Given the description of an element on the screen output the (x, y) to click on. 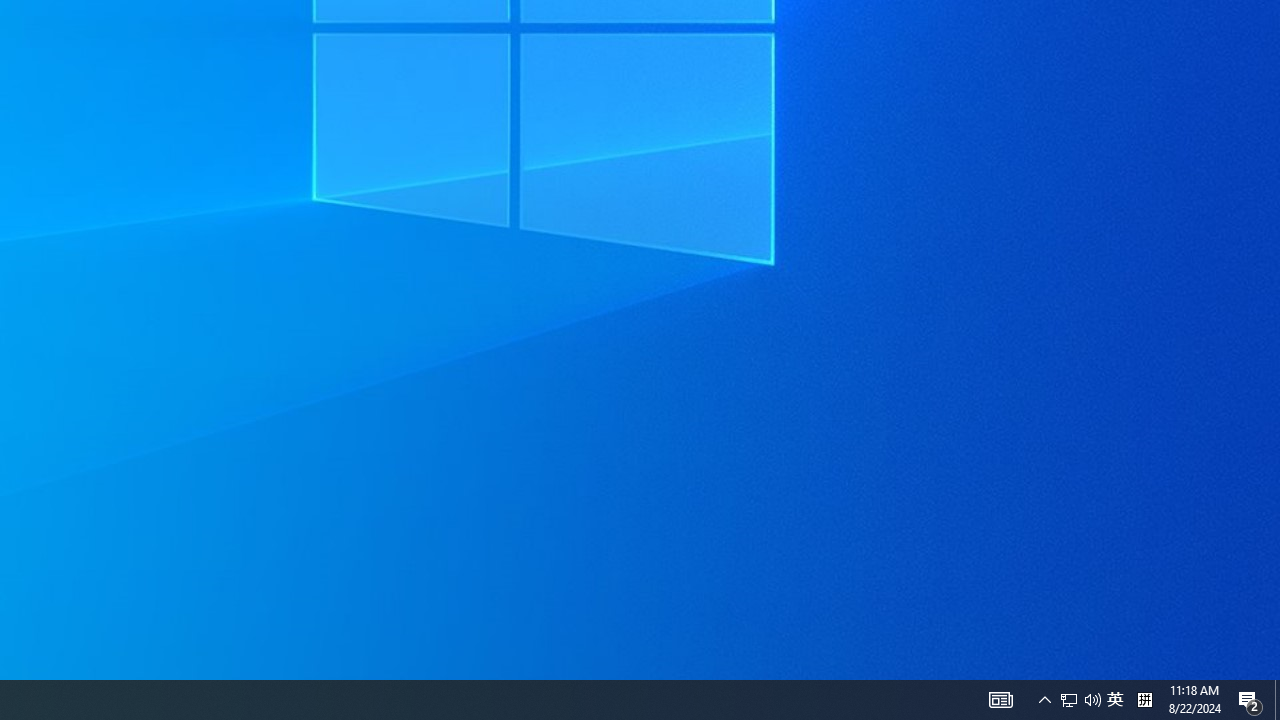
Tray Input Indicator - Chinese (Simplified, China) (1144, 699)
Action Center, 2 new notifications (1250, 699)
Q2790: 100% (1092, 699)
Notification Chevron (1115, 699)
Show desktop (1044, 699)
User Promoted Notification Area (1277, 699)
AutomationID: 4105 (1069, 699)
